Given the description of an element on the screen output the (x, y) to click on. 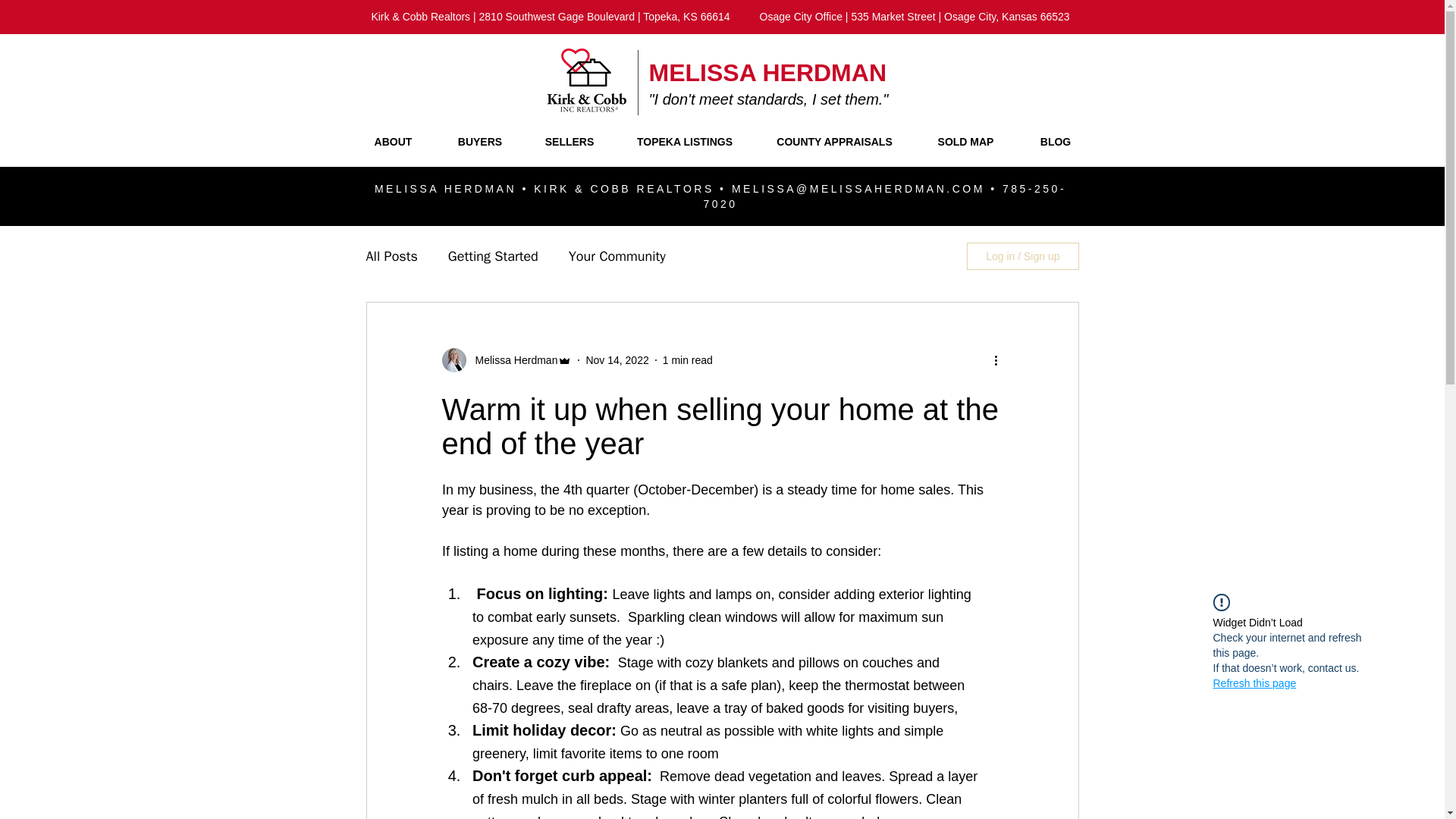
SOLD MAP (965, 142)
BLOG (1055, 142)
Melissa Herdman (511, 360)
Getting Started (493, 256)
1 min read (687, 359)
All Posts (390, 256)
SELLERS (569, 142)
BUYERS (479, 142)
Nov 14, 2022 (616, 359)
TOPEKA LISTINGS (684, 142)
Your Community (617, 256)
